Given the description of an element on the screen output the (x, y) to click on. 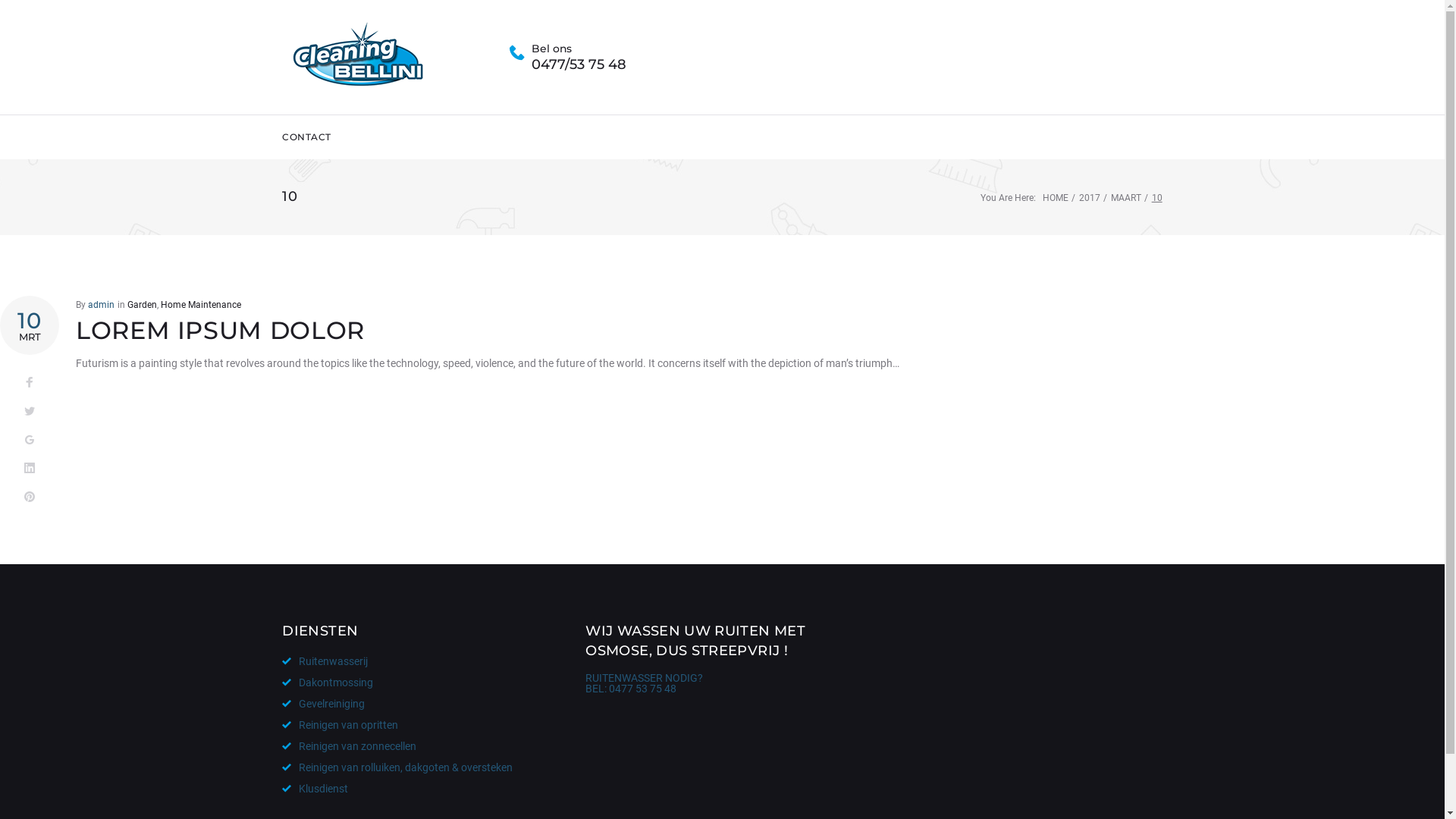
Garden Element type: text (141, 304)
0477/53 75 48 Element type: text (578, 64)
Share on Pinterest Element type: hover (29, 497)
Ruitenwasserij Element type: text (324, 661)
Home Maintenance Element type: text (200, 304)
Reinigen van zonnecellen Element type: text (349, 746)
MAART Element type: text (1125, 197)
2017 Element type: text (1089, 197)
LOREM IPSUM DOLOR Element type: text (219, 330)
Reinigen van rolluiken, dakgoten & oversteken Element type: text (397, 767)
Dakontmossing Element type: text (327, 682)
10
MRT Element type: text (29, 324)
Share on Twitter Element type: hover (29, 411)
Share on Facebook Element type: hover (29, 382)
CONTACT Element type: text (306, 137)
Share on LinkedIn Element type: hover (29, 468)
Klusdienst Element type: text (315, 788)
admin Element type: text (100, 304)
HOME Element type: text (1055, 197)
Gevelreiniging Element type: text (323, 703)
Reinigen van opritten Element type: text (340, 724)
Share on Google+ Element type: hover (29, 440)
